Given the description of an element on the screen output the (x, y) to click on. 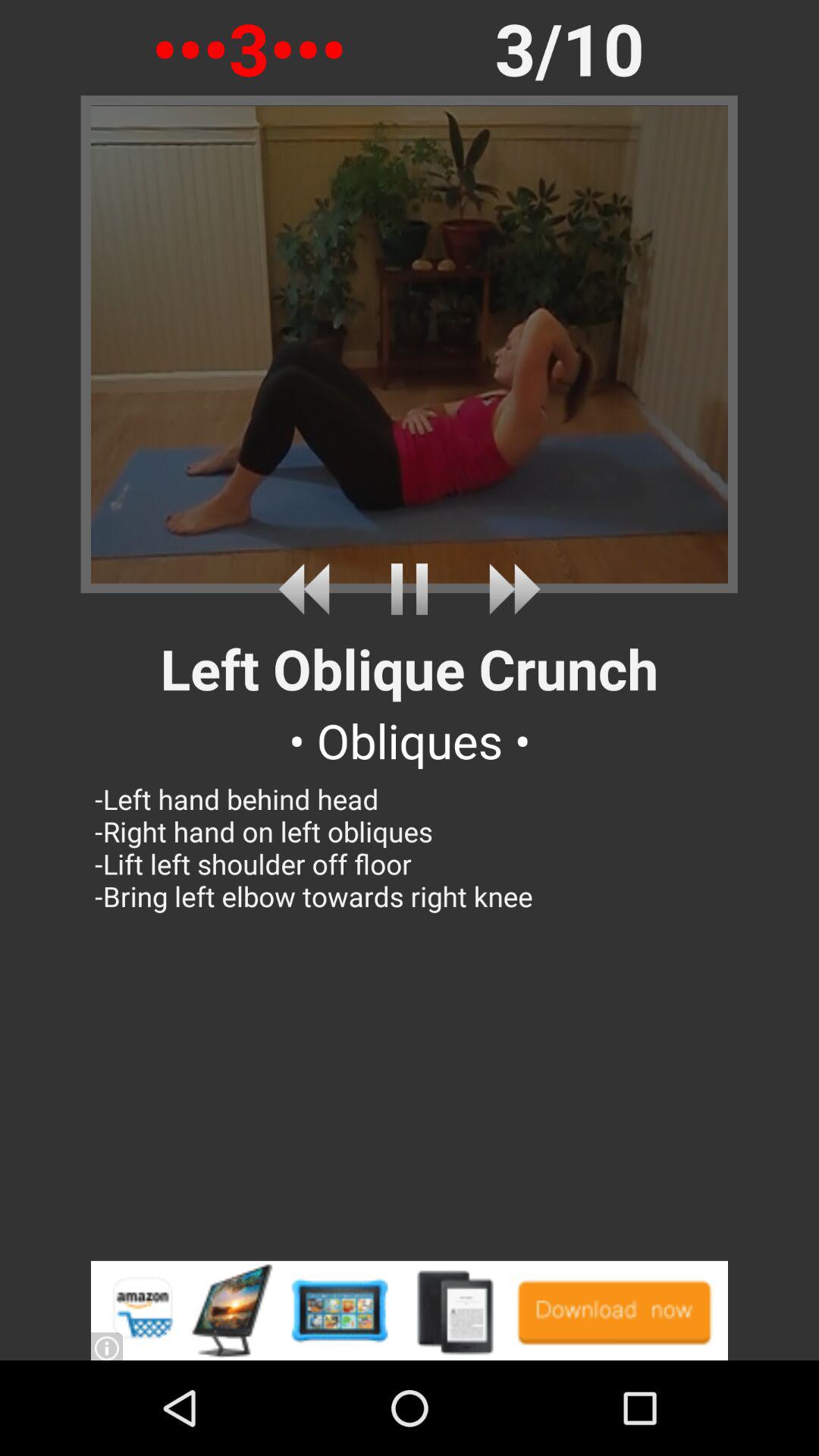
pause video (409, 589)
